Given the description of an element on the screen output the (x, y) to click on. 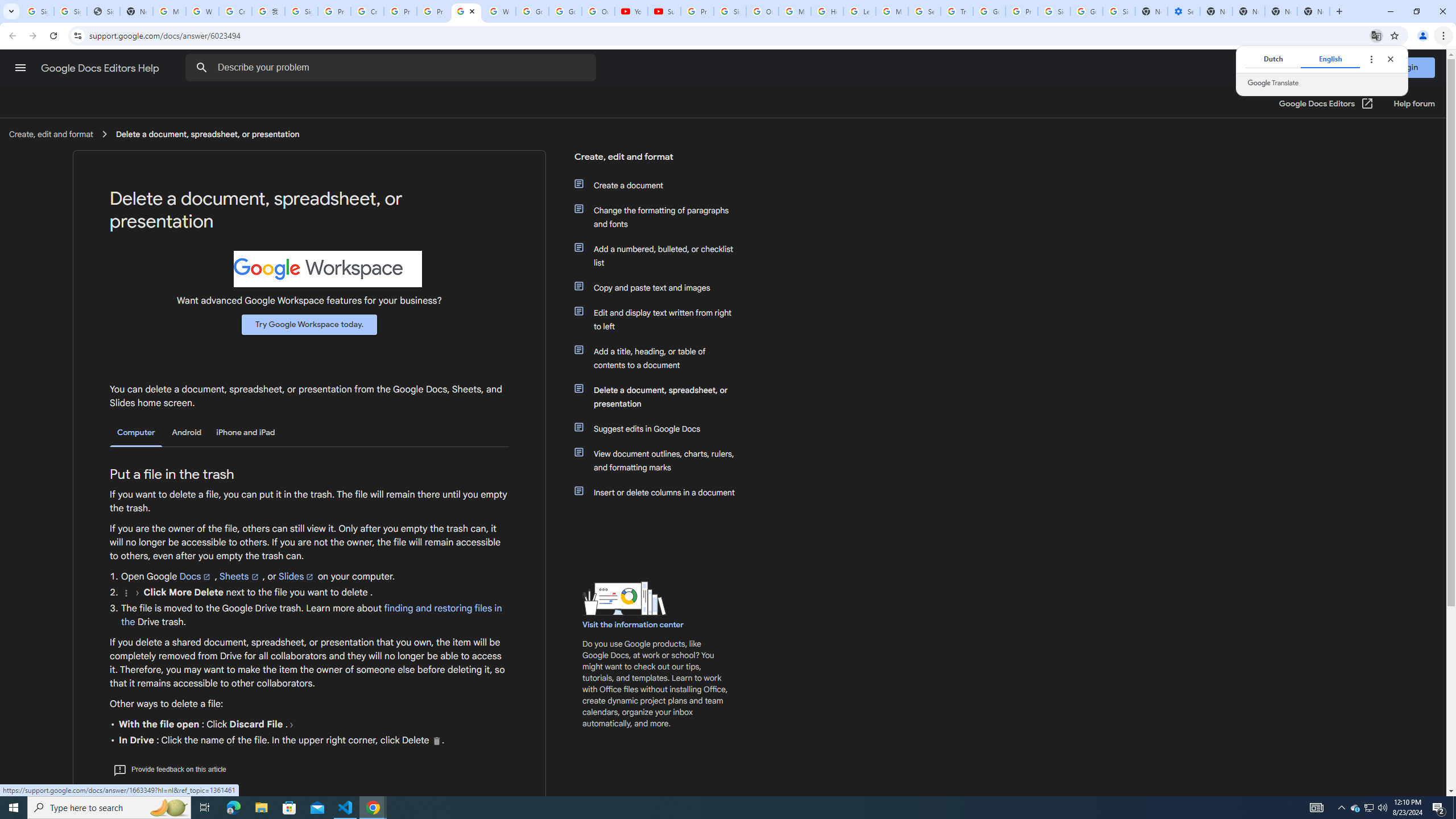
Change the formatting of paragraphs and fonts (661, 217)
Sign in - Google Accounts (301, 11)
finding and restoring files in the (311, 615)
Sign in - Google Accounts (1118, 11)
Google Ads - Sign in (989, 11)
Suggest edits in Google Docs (661, 428)
Google Cybersecurity Innovations - Google Safety Center (1086, 11)
Docs (195, 576)
Google Docs Editors Help (100, 68)
